Given the description of an element on the screen output the (x, y) to click on. 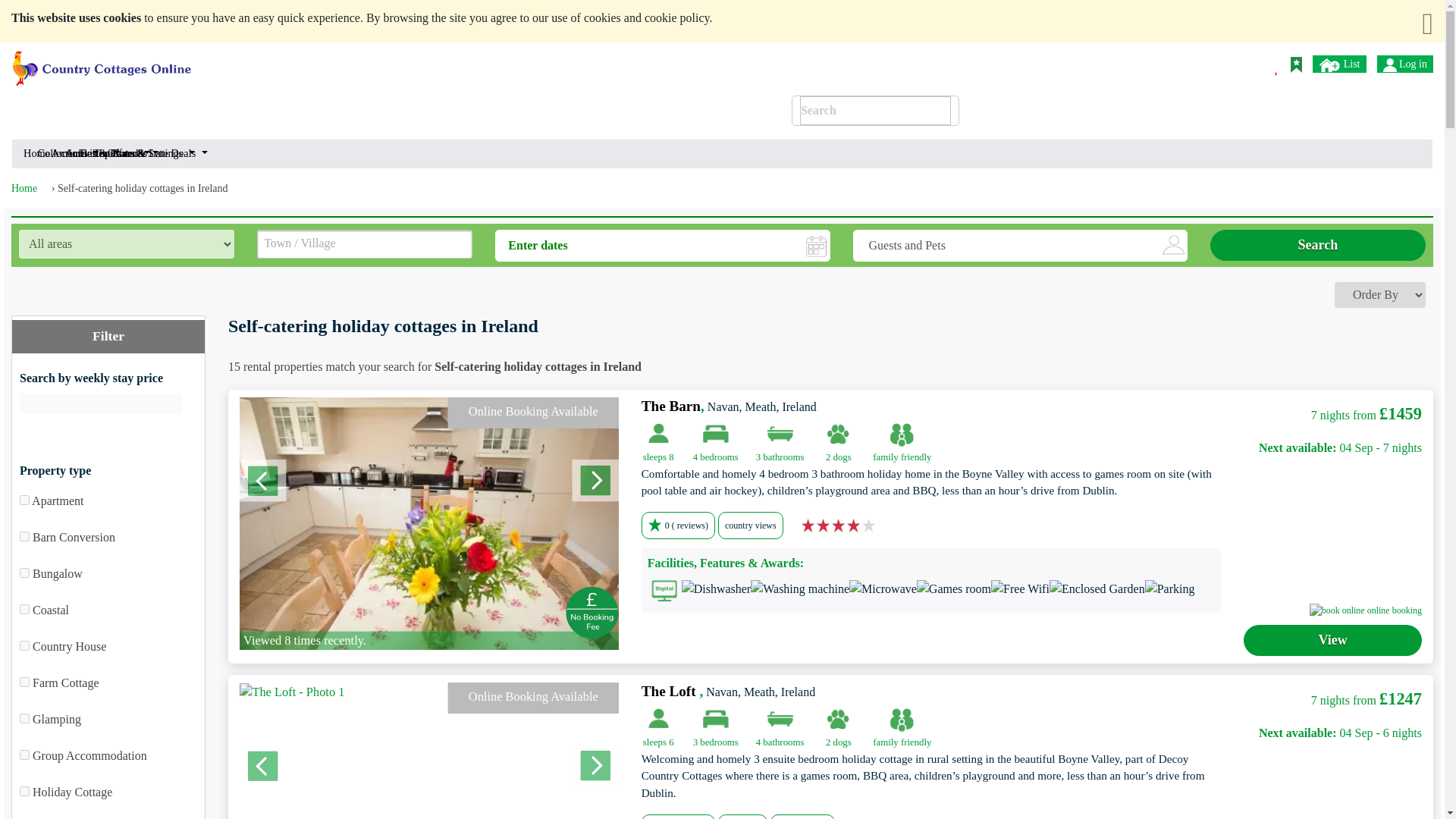
The Barn - Photo 3 (115, 406)
1 (24, 755)
1 (24, 791)
1 (24, 500)
The Barn - Photo 1 (425, 520)
search (937, 62)
1 (24, 718)
1 (24, 536)
1 (24, 609)
List (1339, 63)
